Given the description of an element on the screen output the (x, y) to click on. 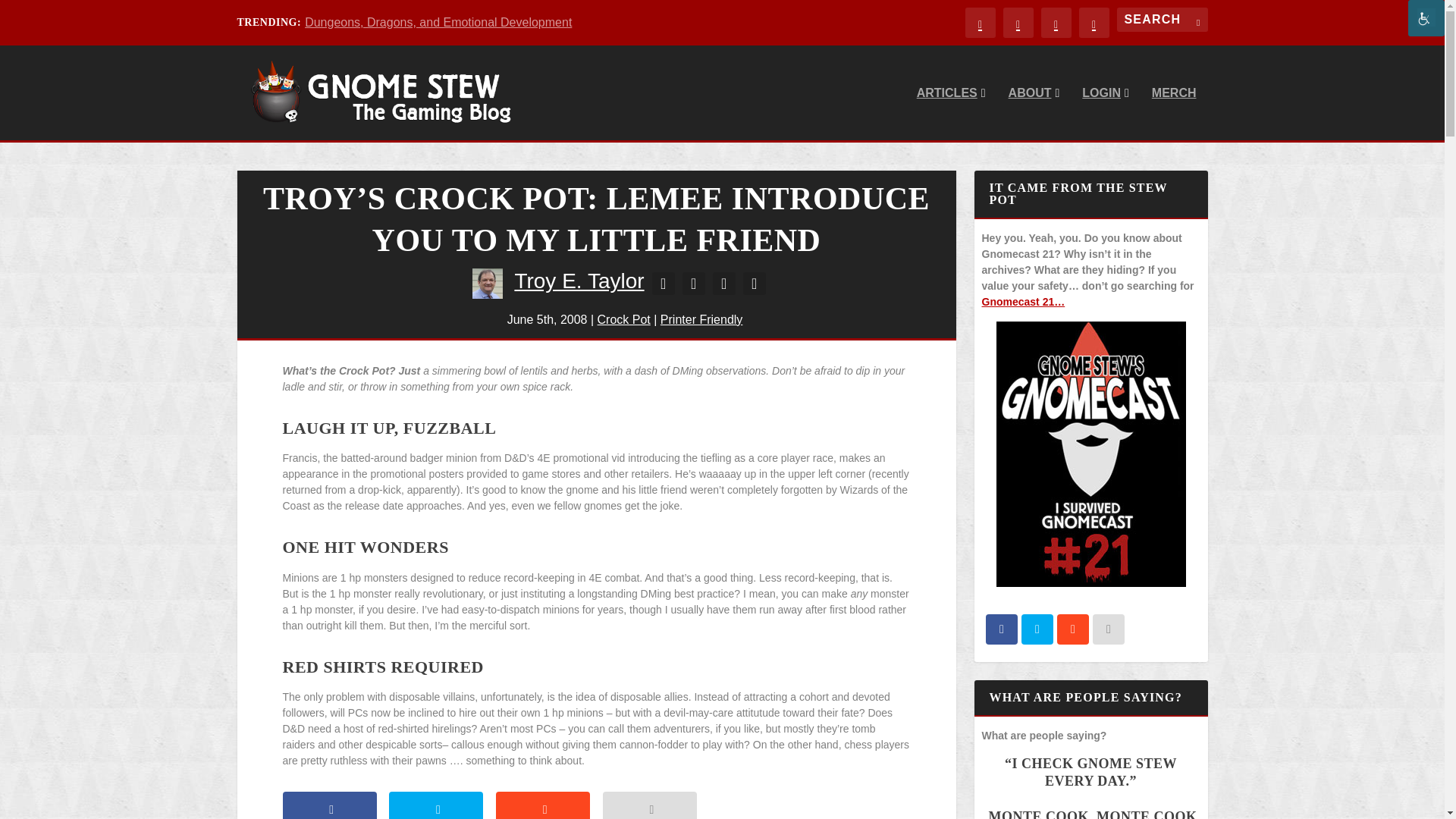
Search for: (1161, 19)
